Given the description of an element on the screen output the (x, y) to click on. 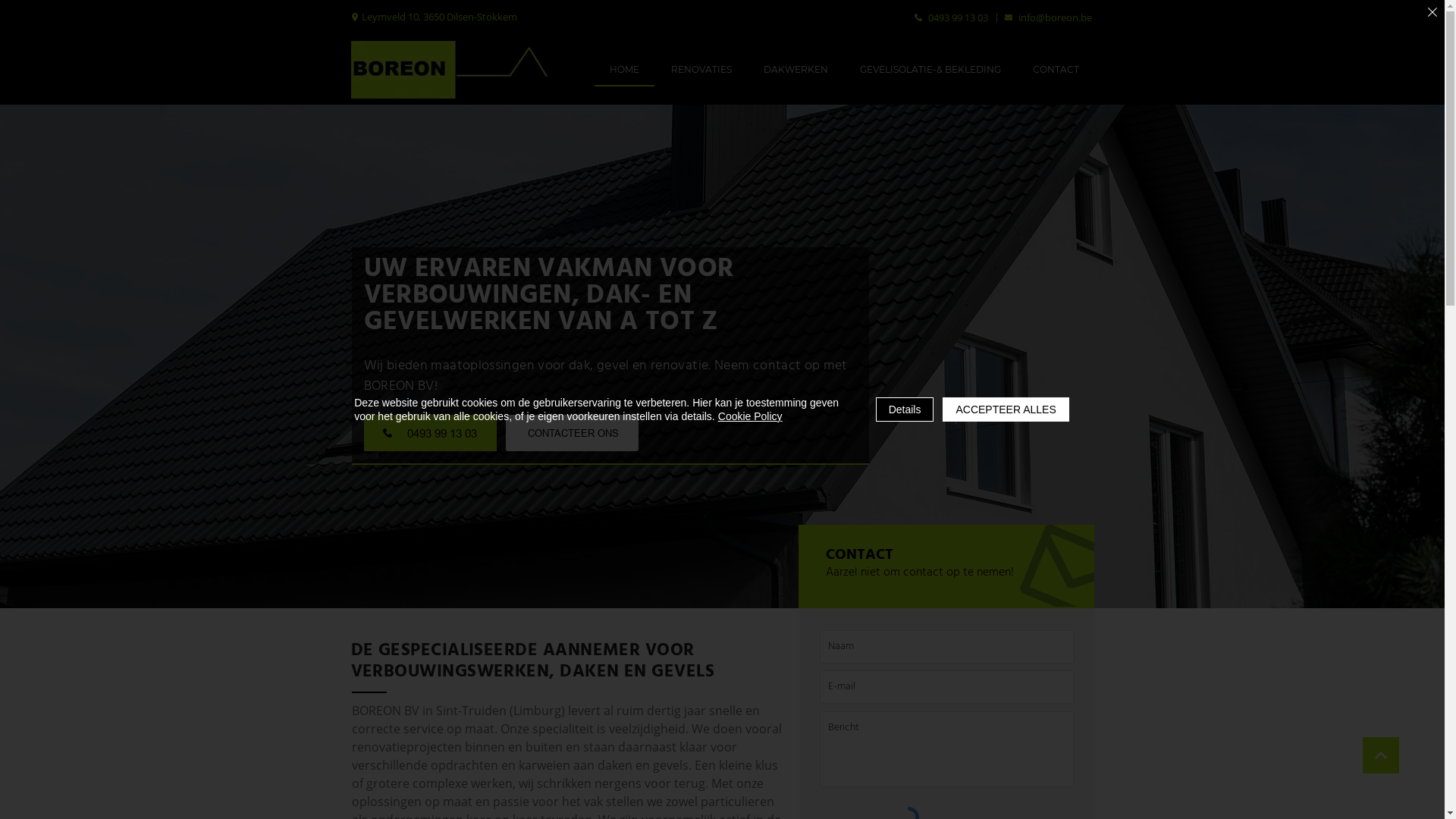
ACCEPTEER ALLES Element type: text (1005, 409)
HOME Element type: text (624, 69)
CONTACT Element type: text (1055, 69)
0493 99 13 03 Element type: text (951, 17)
GEVELISOLATIE-& BEKLEDING Element type: text (930, 69)
RENOVATIES Element type: text (700, 69)
0493 99 13 03 Element type: text (430, 432)
info@boreon.be Element type: text (1048, 17)
Details Element type: text (904, 409)
DAKWERKEN Element type: text (794, 69)
CONTACTEER ONS Element type: text (571, 432)
Cookie Policy Element type: text (750, 416)
